Given the description of an element on the screen output the (x, y) to click on. 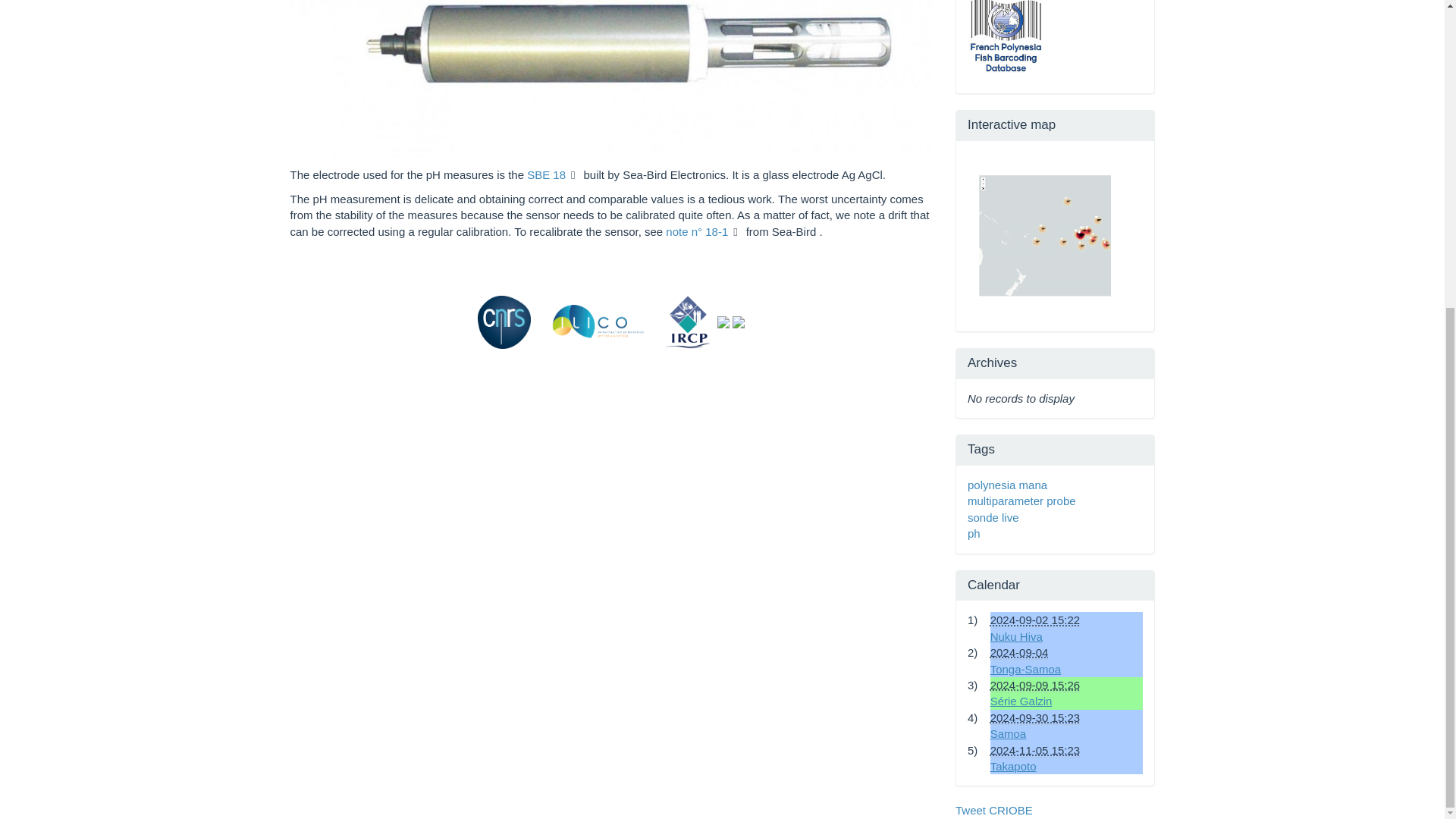
2024-09-02T15:22:00-10:00 (1035, 620)
2024-11-05T15:23:00-10:00 (1035, 750)
2024-09-04T00:00:00-10:00 (1019, 653)
 2022-10-19 10:13, by Cecile (1025, 668)
 2023-06-08 15:27, by Cecile (1021, 700)
 2023-06-08 15:23, by Cecile (1016, 635)
2024-09-09T15:26:00-10:00 (1035, 685)
 2023-06-08 15:23, by Cecile (1008, 733)
2024-09-30T15:23:00-10:00 (1035, 717)
